Given the description of an element on the screen output the (x, y) to click on. 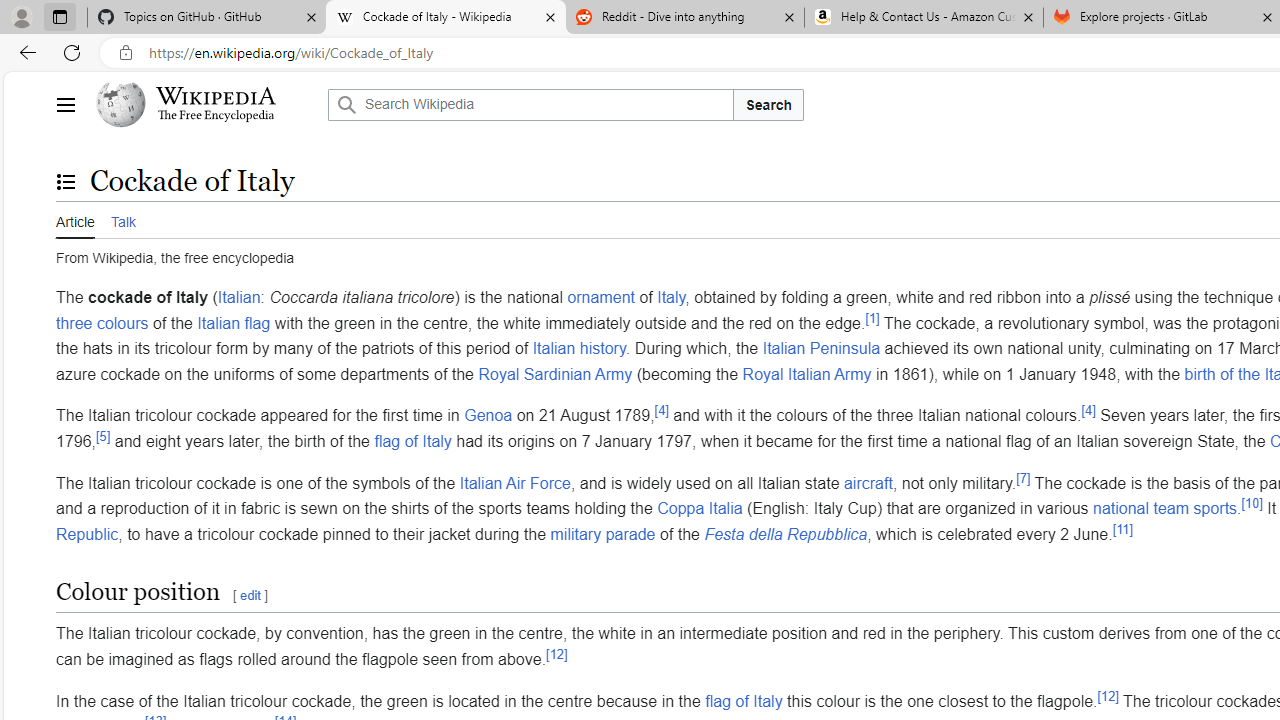
Wikipedia (216, 96)
Talk (122, 219)
[11] (1123, 529)
Italian Air Force (514, 482)
Festa della Repubblica (785, 533)
Close tab (1267, 16)
Refresh (72, 52)
Italian history (578, 348)
Article (75, 219)
Italy (671, 297)
The Free Encyclopedia (216, 116)
View site information (125, 53)
military parade (602, 533)
edit (250, 596)
